Given the description of an element on the screen output the (x, y) to click on. 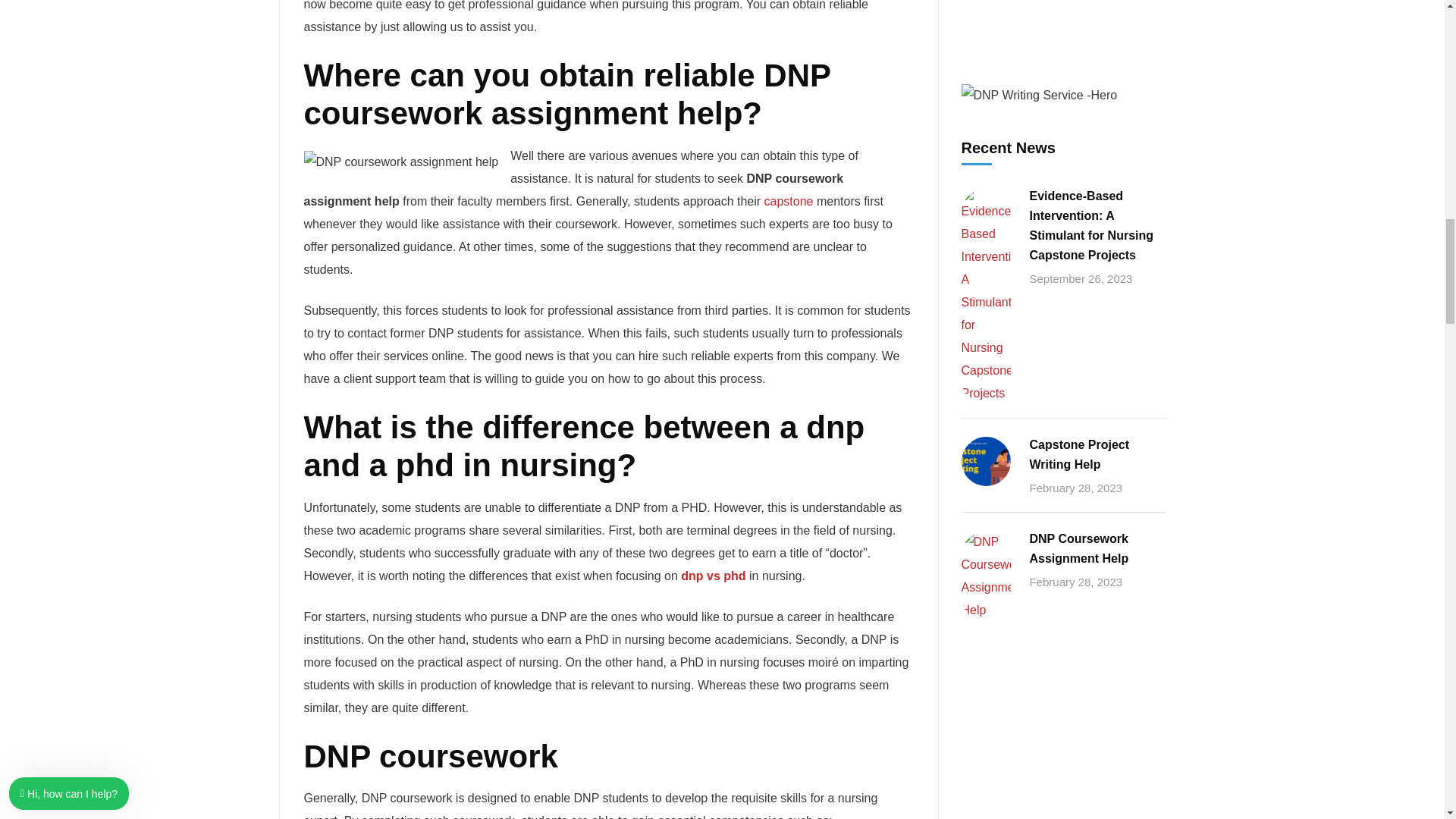
DNP Coursework Assignment Help 1 (399, 161)
